Given the description of an element on the screen output the (x, y) to click on. 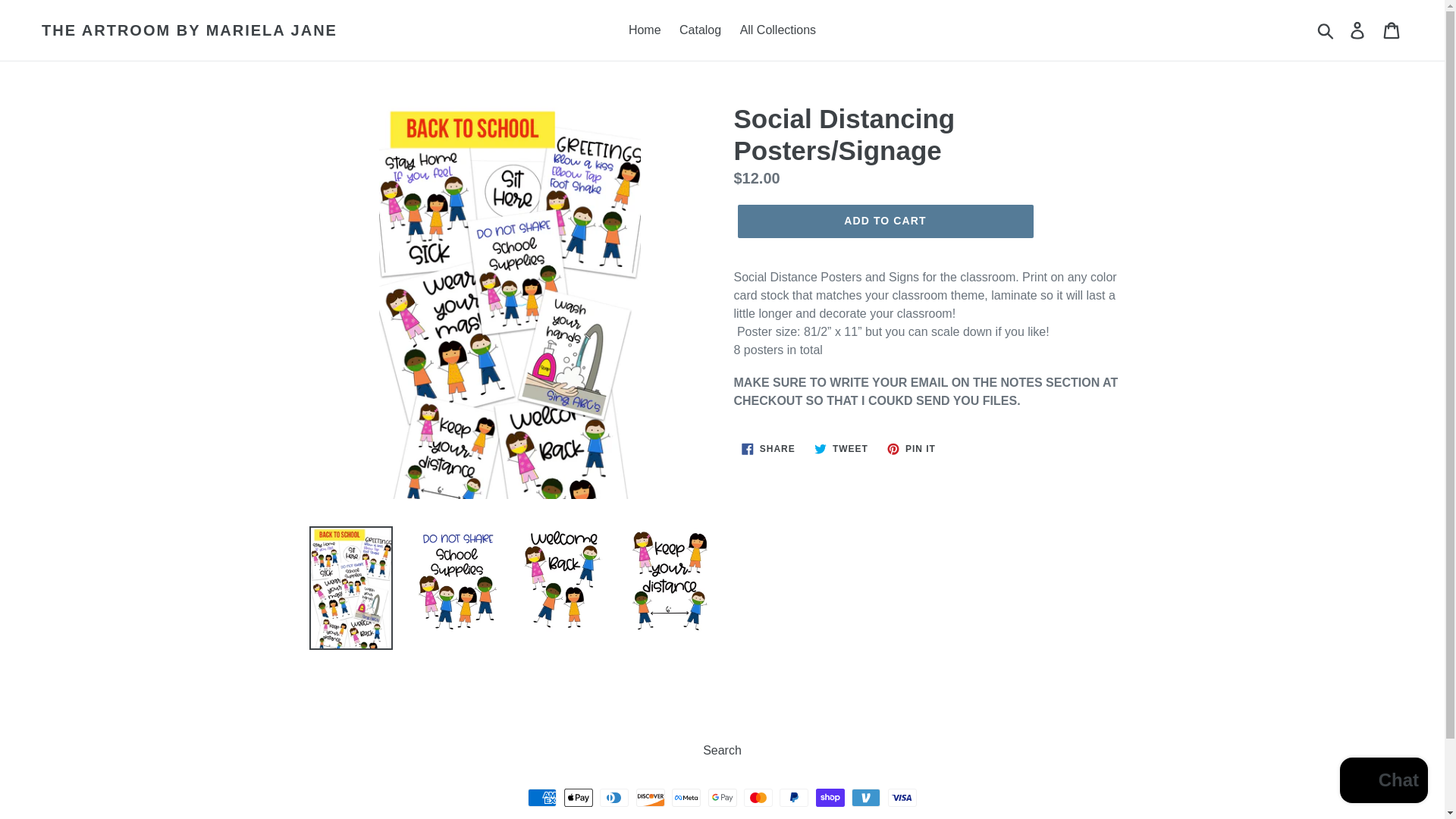
Home (644, 29)
ADD TO CART (884, 221)
Cart (1392, 29)
Submit (768, 448)
Shopify online store chat (1326, 29)
Search (1383, 781)
Log in (911, 448)
